Given the description of an element on the screen output the (x, y) to click on. 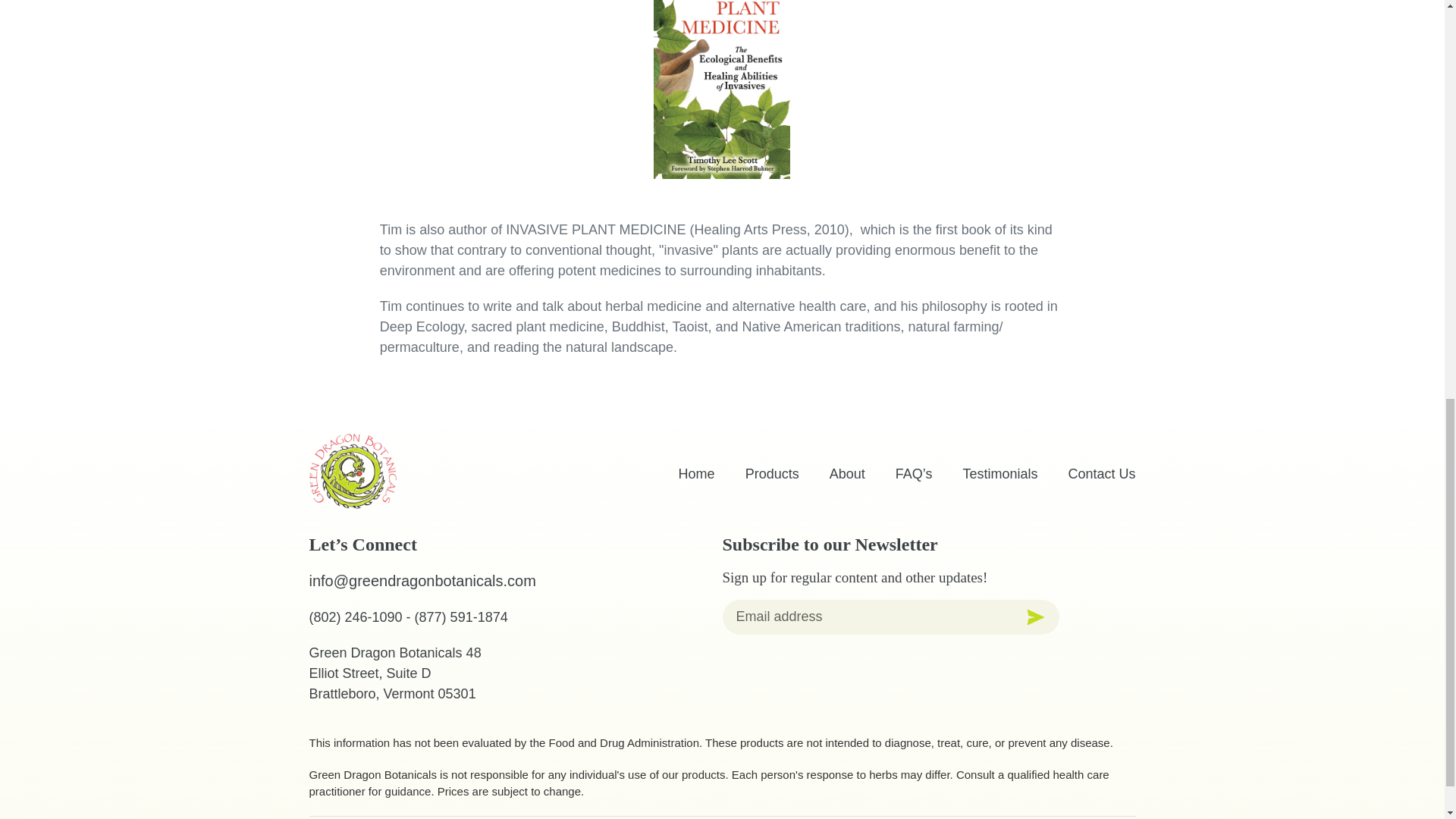
Home (696, 473)
Products (772, 473)
